Given the description of an element on the screen output the (x, y) to click on. 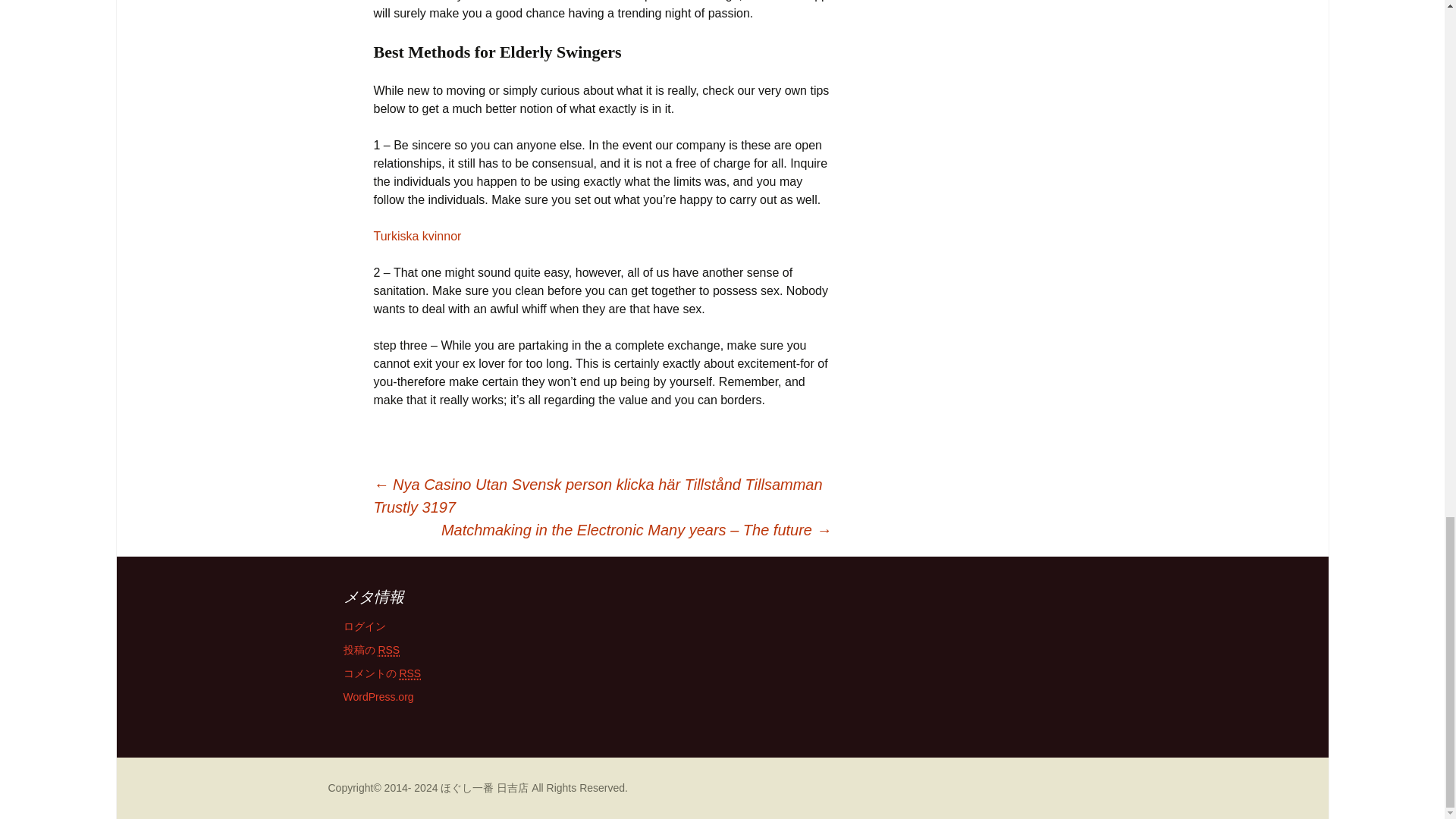
Really Simple Syndication (387, 649)
Turkiska kvinnor (416, 236)
WordPress.org (377, 696)
Really Simple Syndication (409, 673)
